Given the description of an element on the screen output the (x, y) to click on. 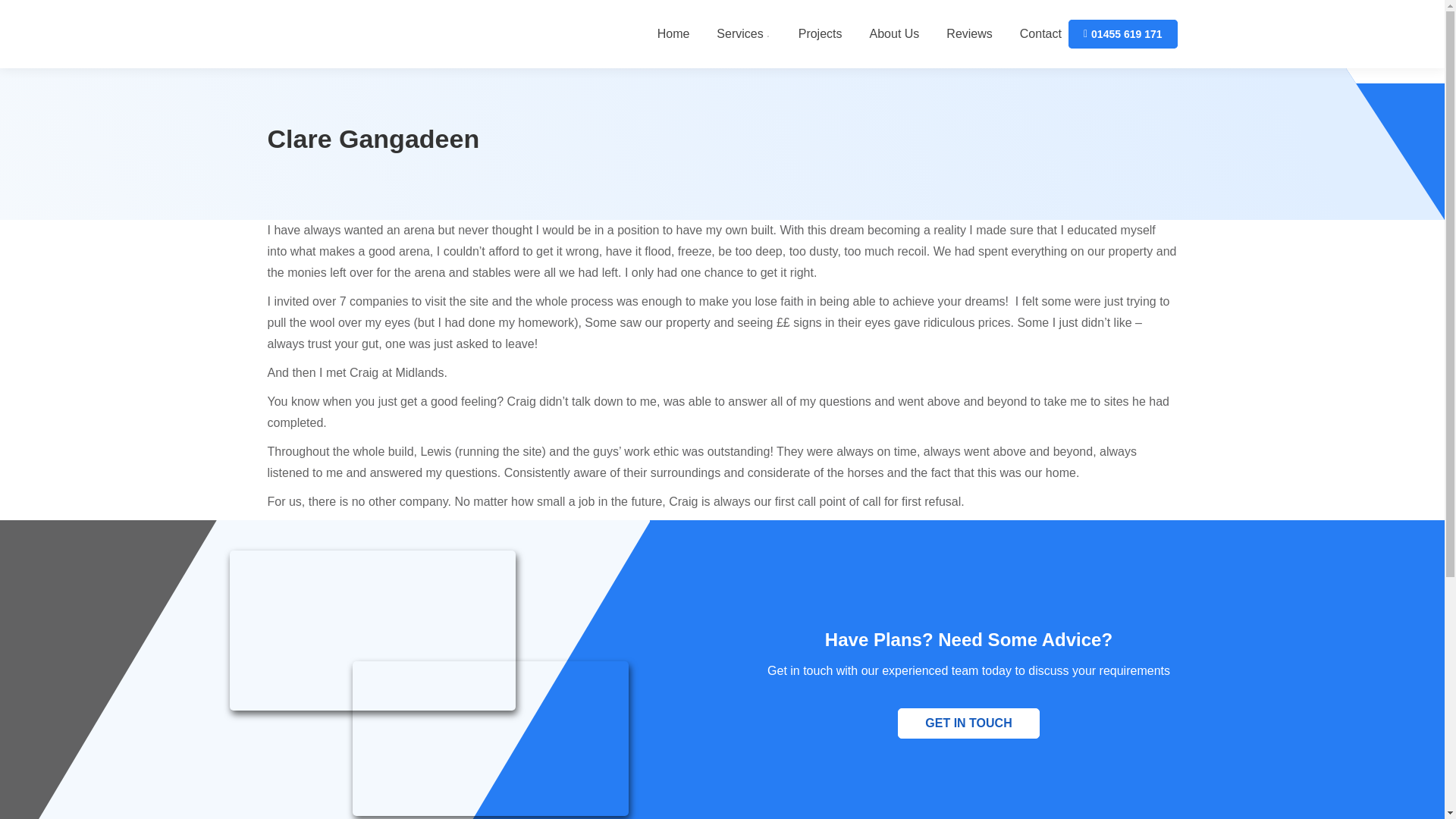
Services (743, 33)
GET IN TOUCH (968, 723)
Projects (819, 33)
Home (673, 33)
Reviews (968, 33)
GET IN TOUCH (968, 713)
About Us (894, 33)
01455 619 171 (1122, 33)
Contact (1040, 33)
